Given the description of an element on the screen output the (x, y) to click on. 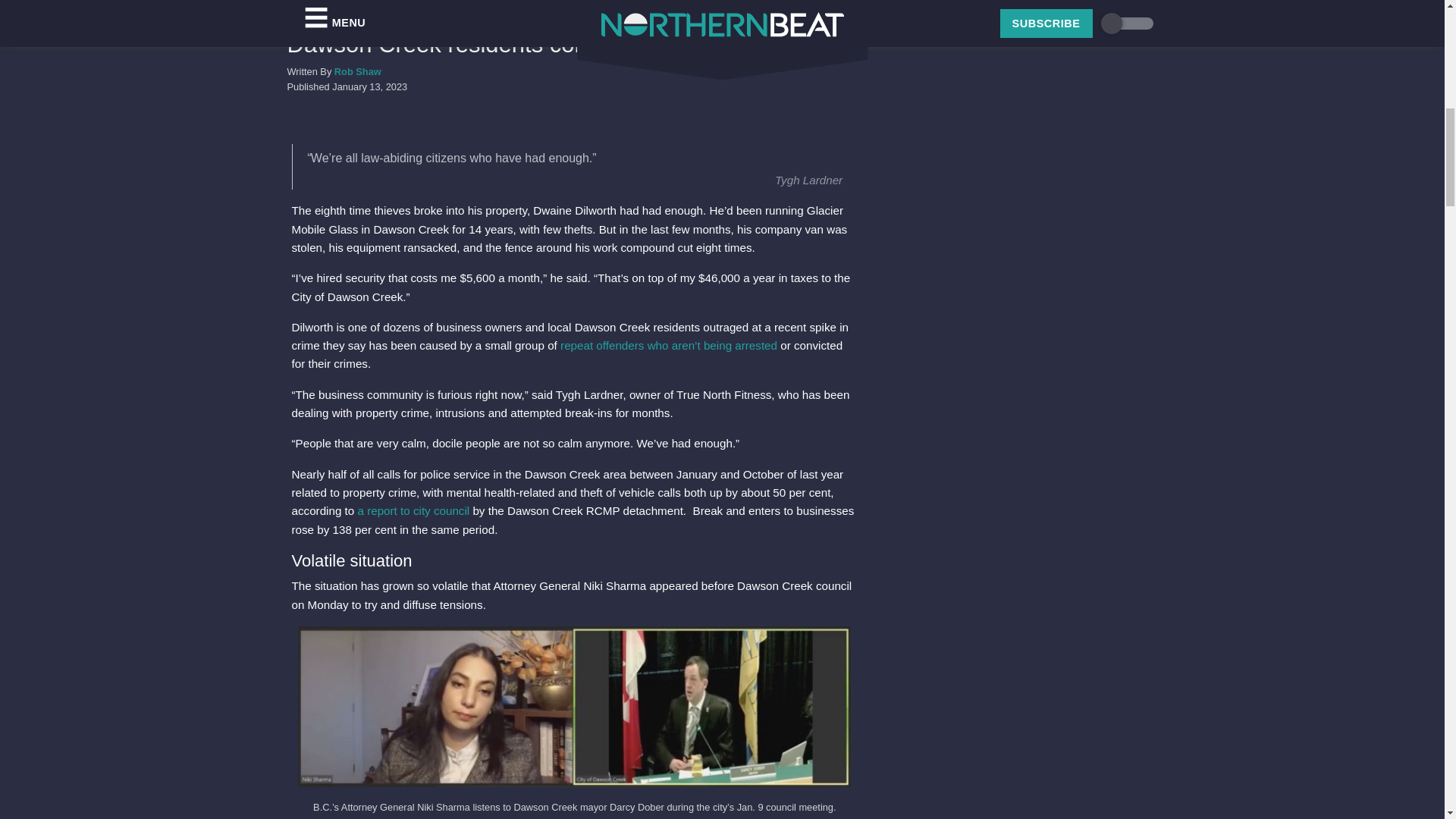
NEWS FEATURE (329, 21)
a report to city council (412, 510)
Rob Shaw (357, 71)
